Given the description of an element on the screen output the (x, y) to click on. 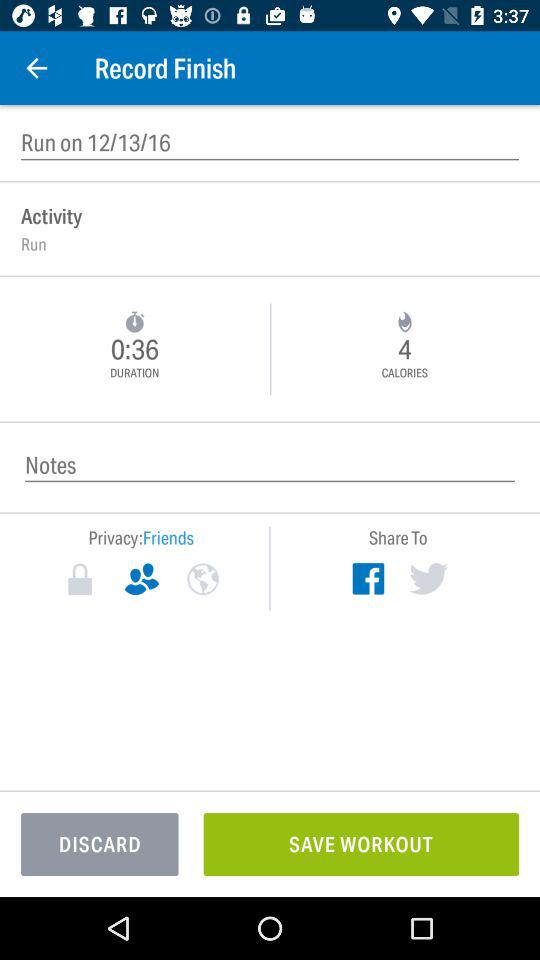
tap item next to record finish (36, 68)
